Given the description of an element on the screen output the (x, y) to click on. 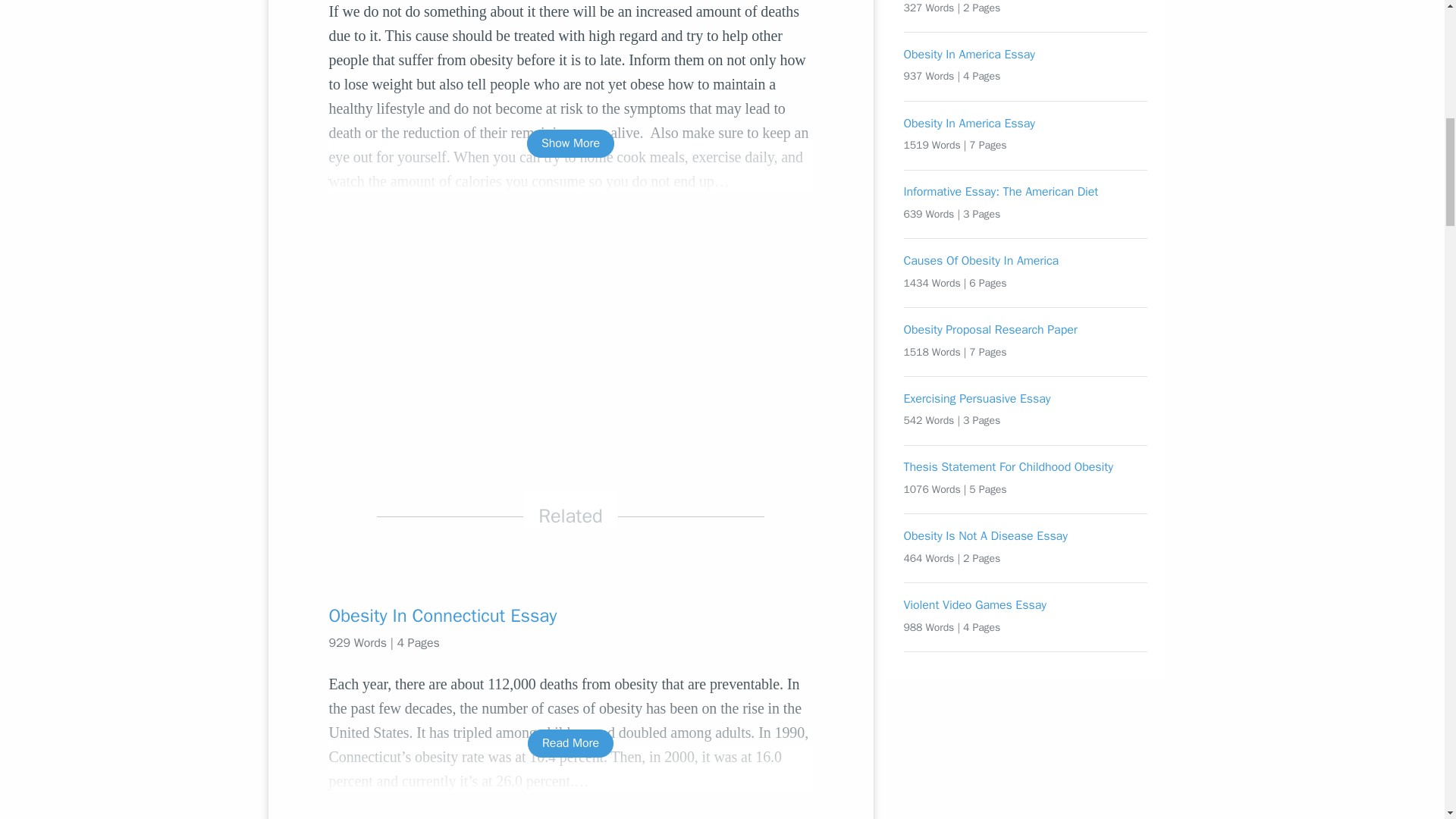
Show More (570, 143)
Read More (569, 743)
Obesity In Connecticut Essay (570, 615)
